Given the description of an element on the screen output the (x, y) to click on. 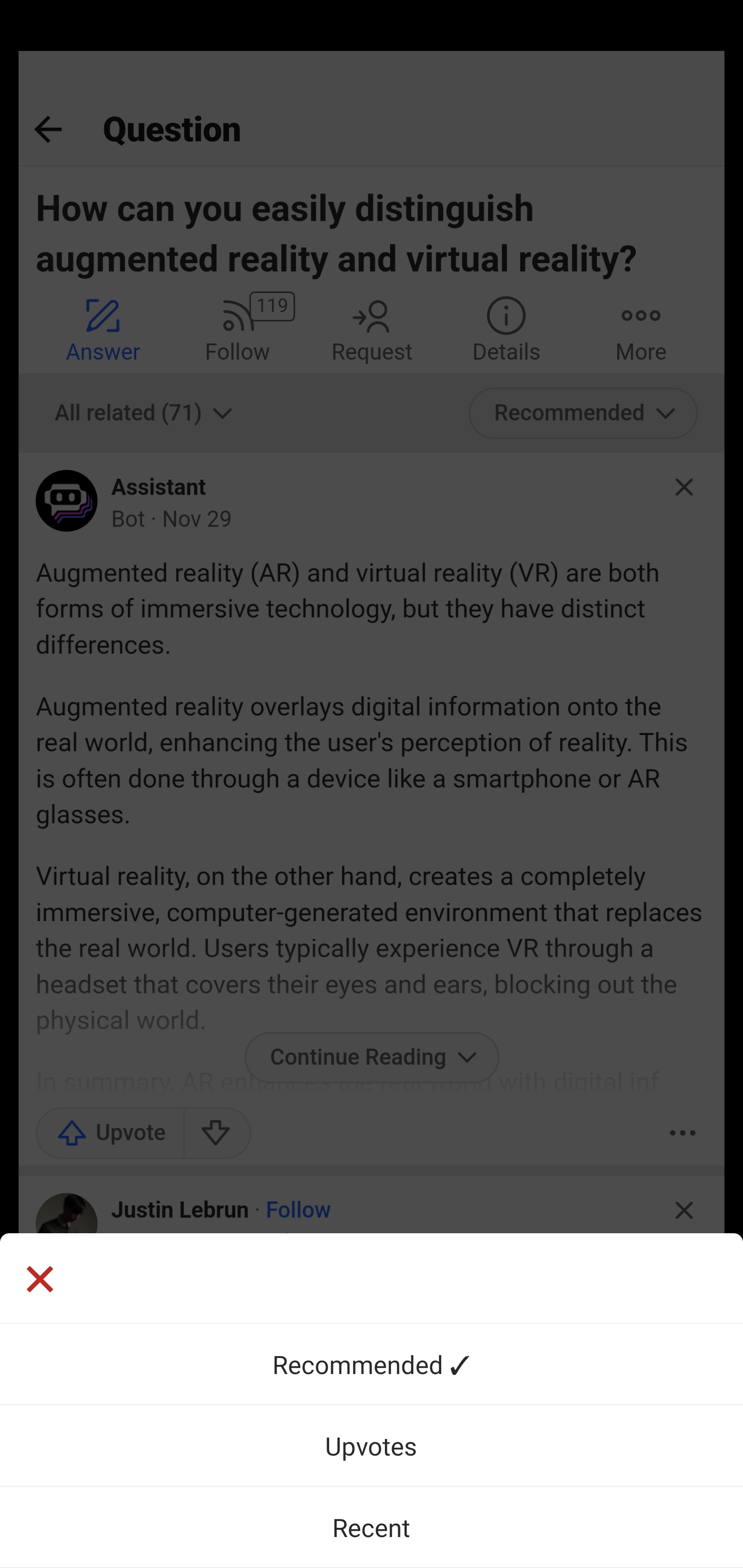
 (371, 1278)
Recommended ✓ (371, 1363)
Upvotes (371, 1445)
Recent (371, 1527)
